Given the description of an element on the screen output the (x, y) to click on. 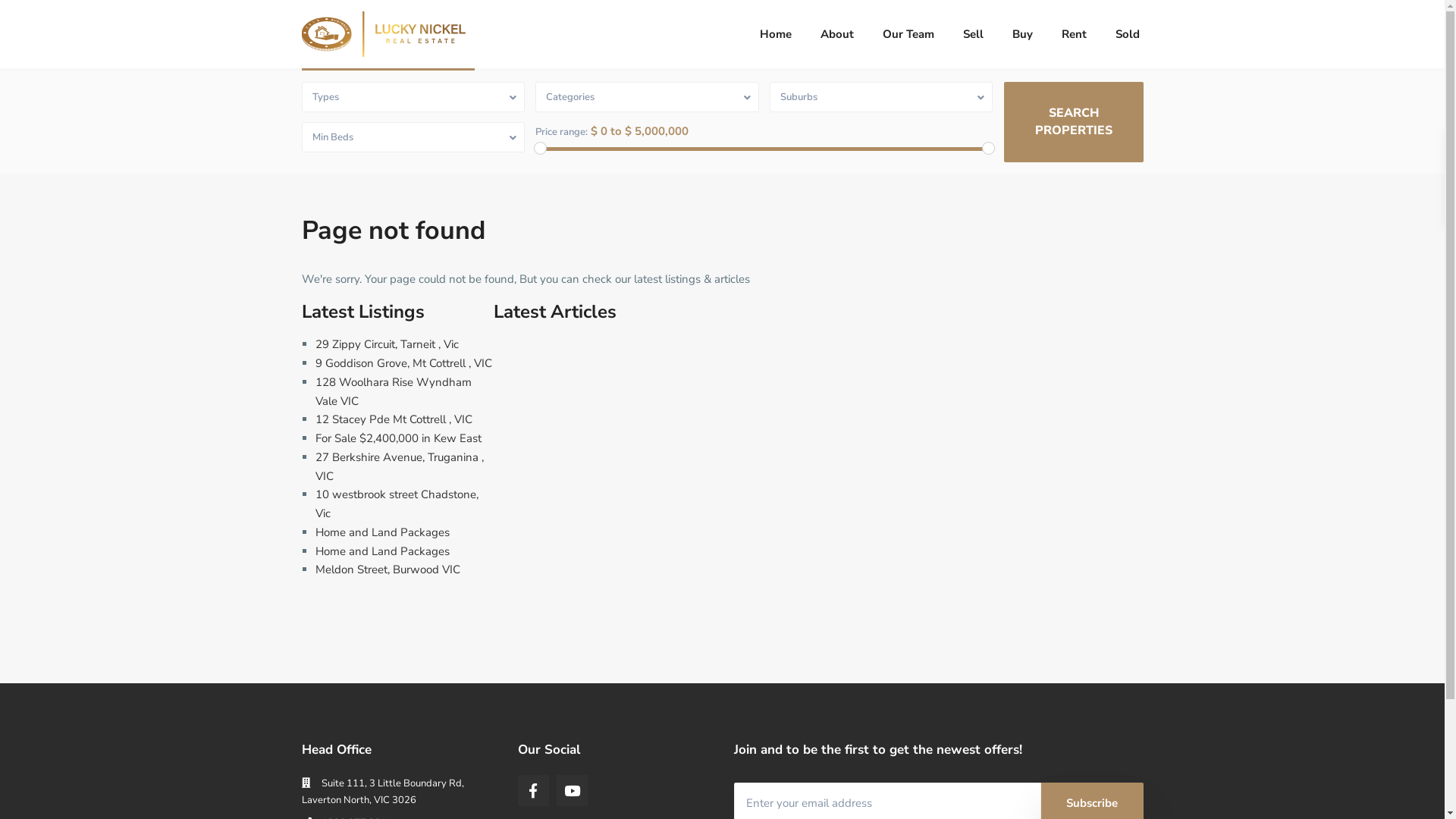
About Element type: text (836, 34)
128 Woolhara Rise Wyndham Vale VIC Element type: text (393, 391)
10 westbrook street Chadstone, Vic Element type: text (396, 503)
For Sale $2,400,000 in Kew East Element type: text (398, 437)
Home and Land Packages Element type: text (382, 550)
Home and Land Packages Element type: text (382, 531)
Our Team Element type: text (907, 34)
9 Goddison Grove, Mt Cottrell , VIC Element type: text (403, 362)
Home Element type: text (774, 34)
29 Zippy Circuit, Tarneit , Vic Element type: text (386, 343)
27 Berkshire Avenue, Truganina , VIC Element type: text (399, 466)
12 Stacey Pde Mt Cottrell , VIC Element type: text (393, 418)
Sold Element type: text (1127, 34)
Sell Element type: text (972, 34)
Meldon Street, Burwood VIC Element type: text (387, 569)
Rent Element type: text (1073, 34)
SEARCH PROPERTIES Element type: text (1073, 121)
Buy Element type: text (1022, 34)
